Given the description of an element on the screen output the (x, y) to click on. 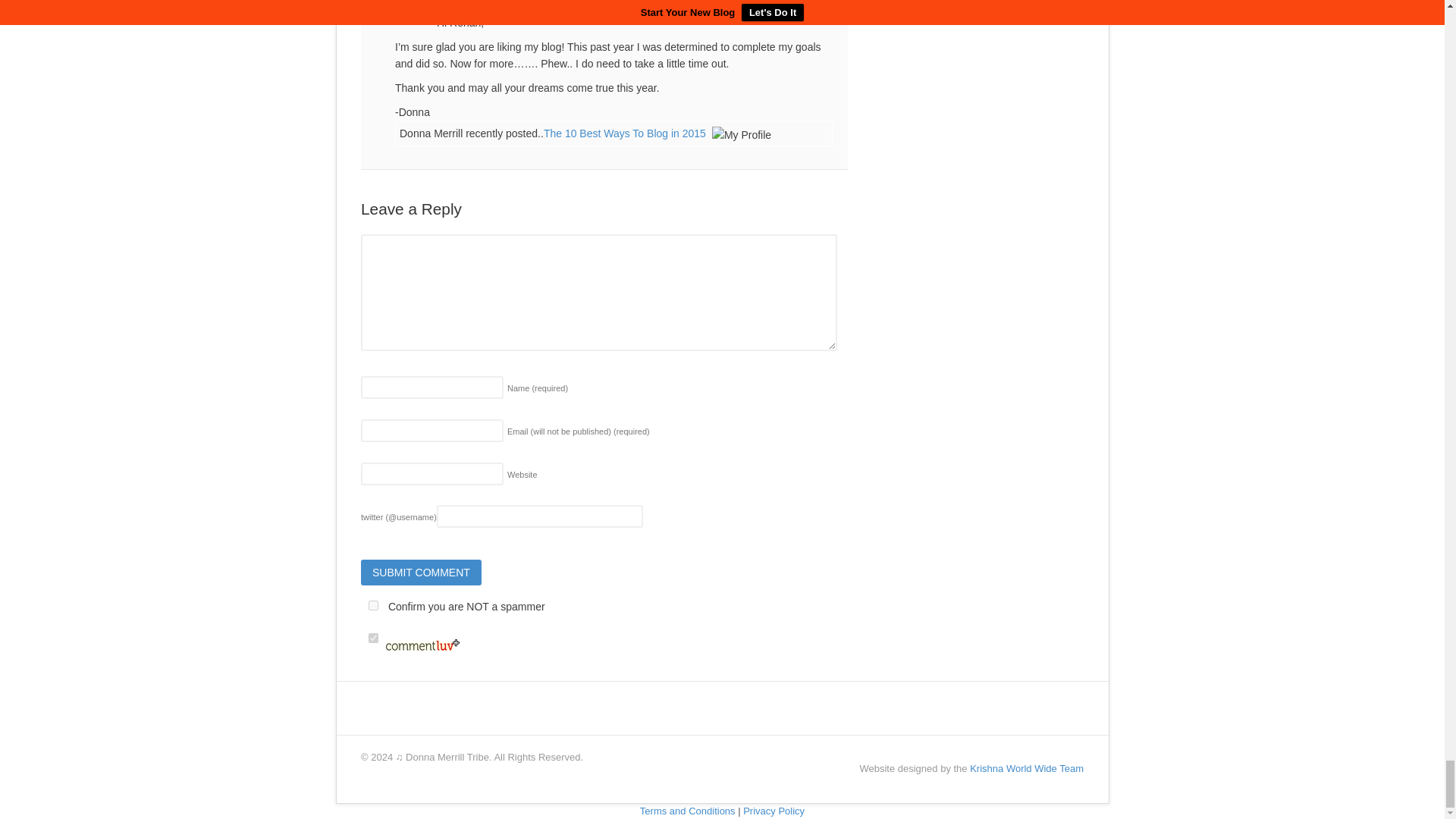
on (373, 637)
Submit Comment (421, 572)
on (373, 605)
